Given the description of an element on the screen output the (x, y) to click on. 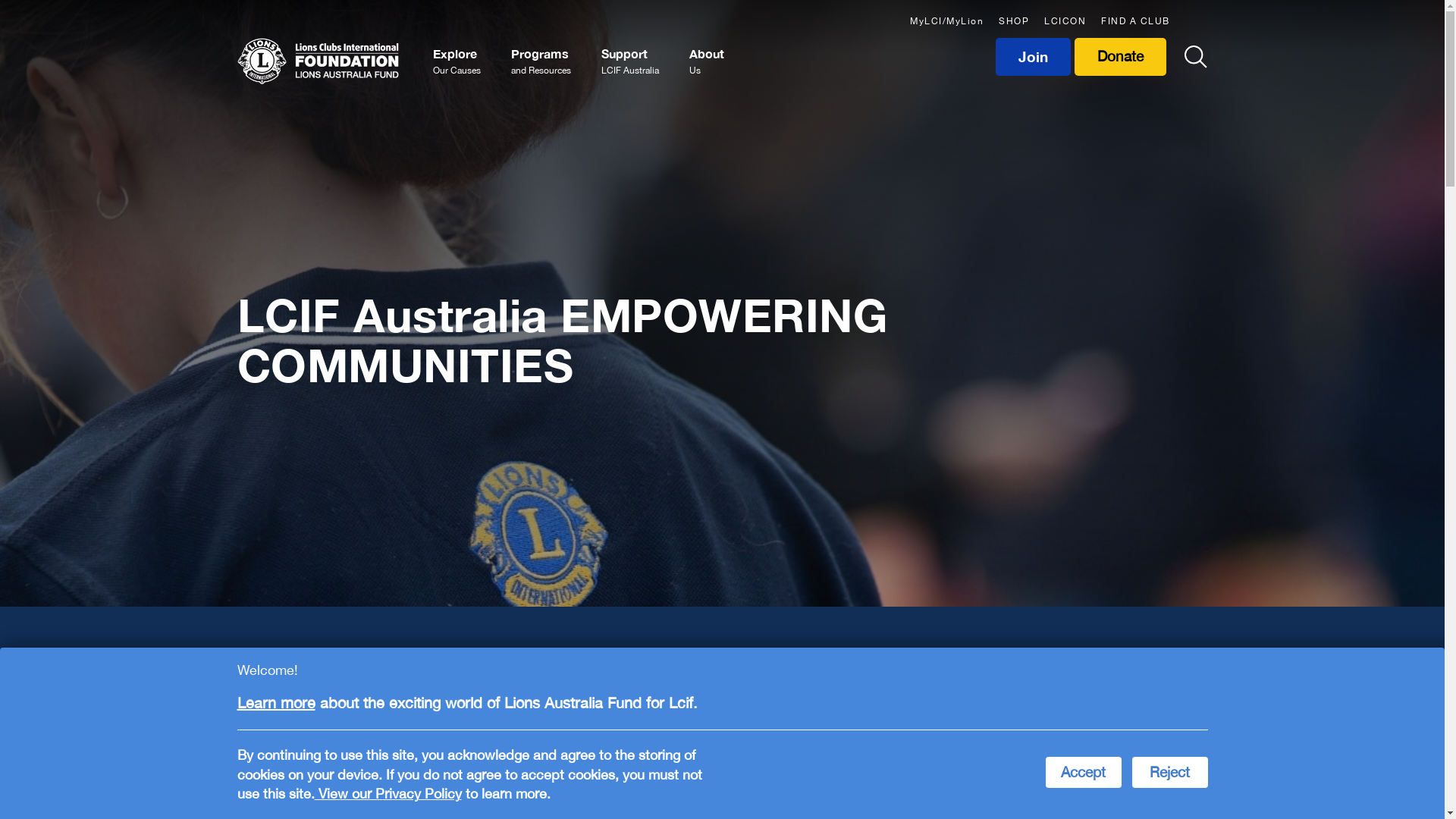
Programs
and Resources Element type: text (540, 61)
Donate Element type: text (1121, 56)
Support
LCIF Australia Element type: text (630, 61)
Learn more Element type: text (275, 702)
Donate Element type: text (1120, 56)
Go to Top Element type: hover (1421, 758)
Join Element type: text (1032, 56)
LCICON Element type: text (1064, 18)
About
Us Element type: text (706, 61)
SHOP Element type: text (1013, 18)
Join Element type: text (1034, 56)
FIND A CLUB Element type: text (1135, 18)
Explore
Our Causes Element type: text (456, 61)
Reject Element type: text (1169, 771)
Accept Element type: text (1082, 771)
View our Privacy Policy Element type: text (387, 793)
MyLCI/MyLion Element type: text (946, 18)
